Given the description of an element on the screen output the (x, y) to click on. 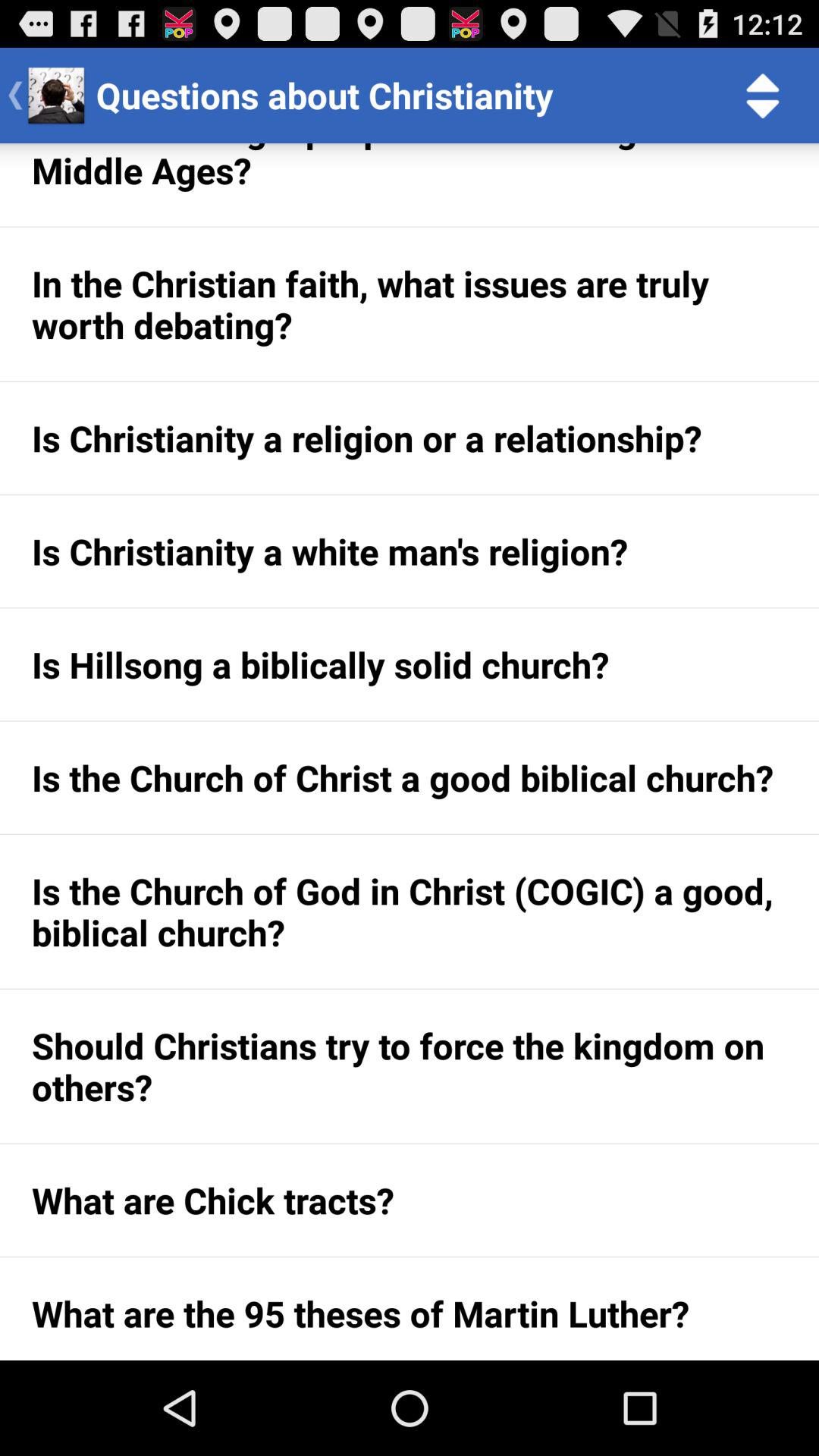
select item above is the church (409, 664)
